Given the description of an element on the screen output the (x, y) to click on. 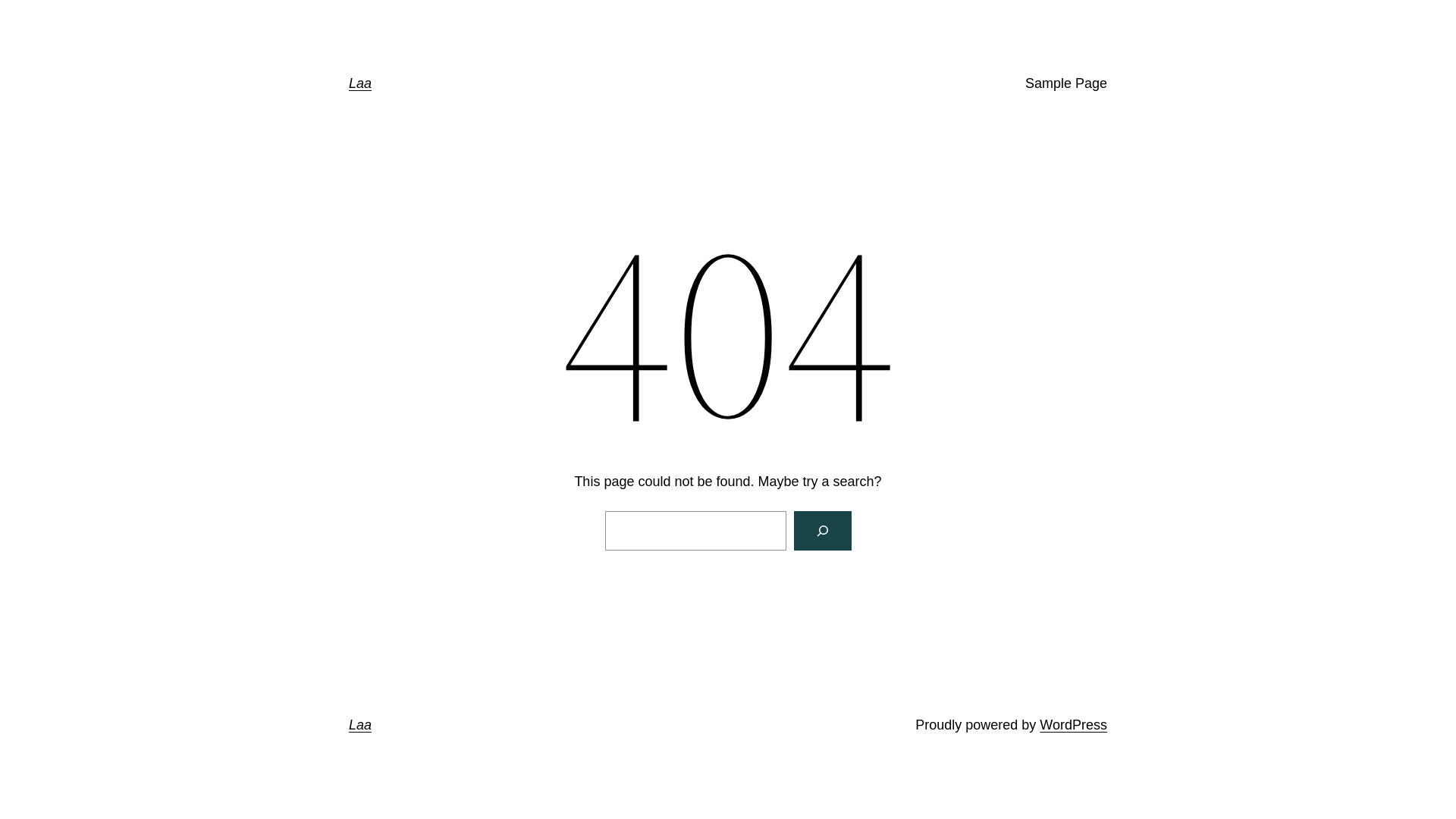
Laa Element type: text (359, 83)
WordPress Element type: text (1073, 724)
Laa Element type: text (359, 724)
Sample Page Element type: text (1066, 83)
